Given the description of an element on the screen output the (x, y) to click on. 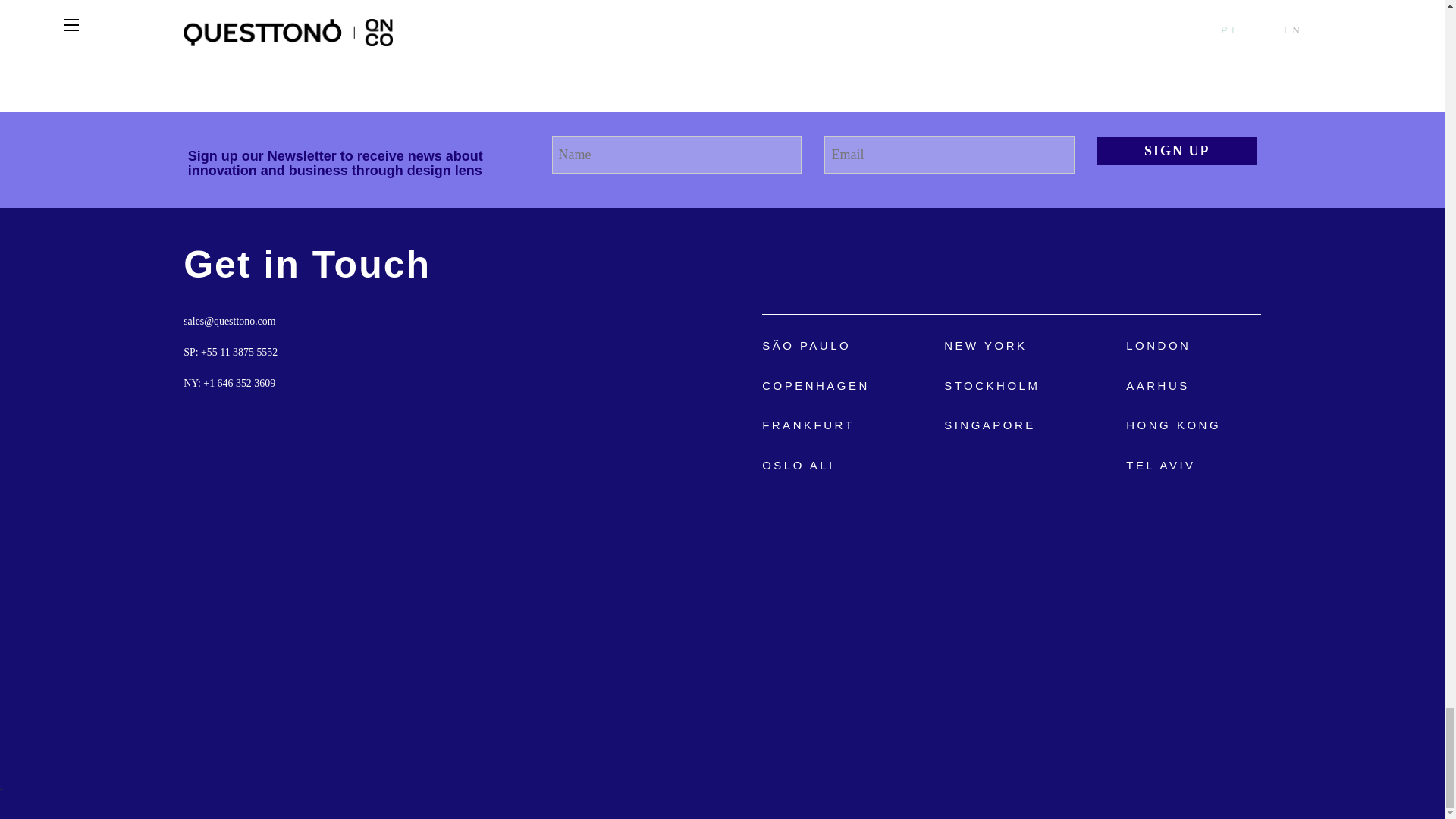
OSLO ALI (797, 465)
Sign up (1176, 151)
Sign up (1176, 151)
FRANKFURT (807, 424)
AARHUS (1157, 385)
NEW YORK (984, 344)
COPENHAGEN (815, 385)
SINGAPORE (989, 424)
LONDON (1158, 344)
HONG KONG (1173, 424)
TEL AVIV (1160, 465)
STOCKHOLM (991, 385)
